Given the description of an element on the screen output the (x, y) to click on. 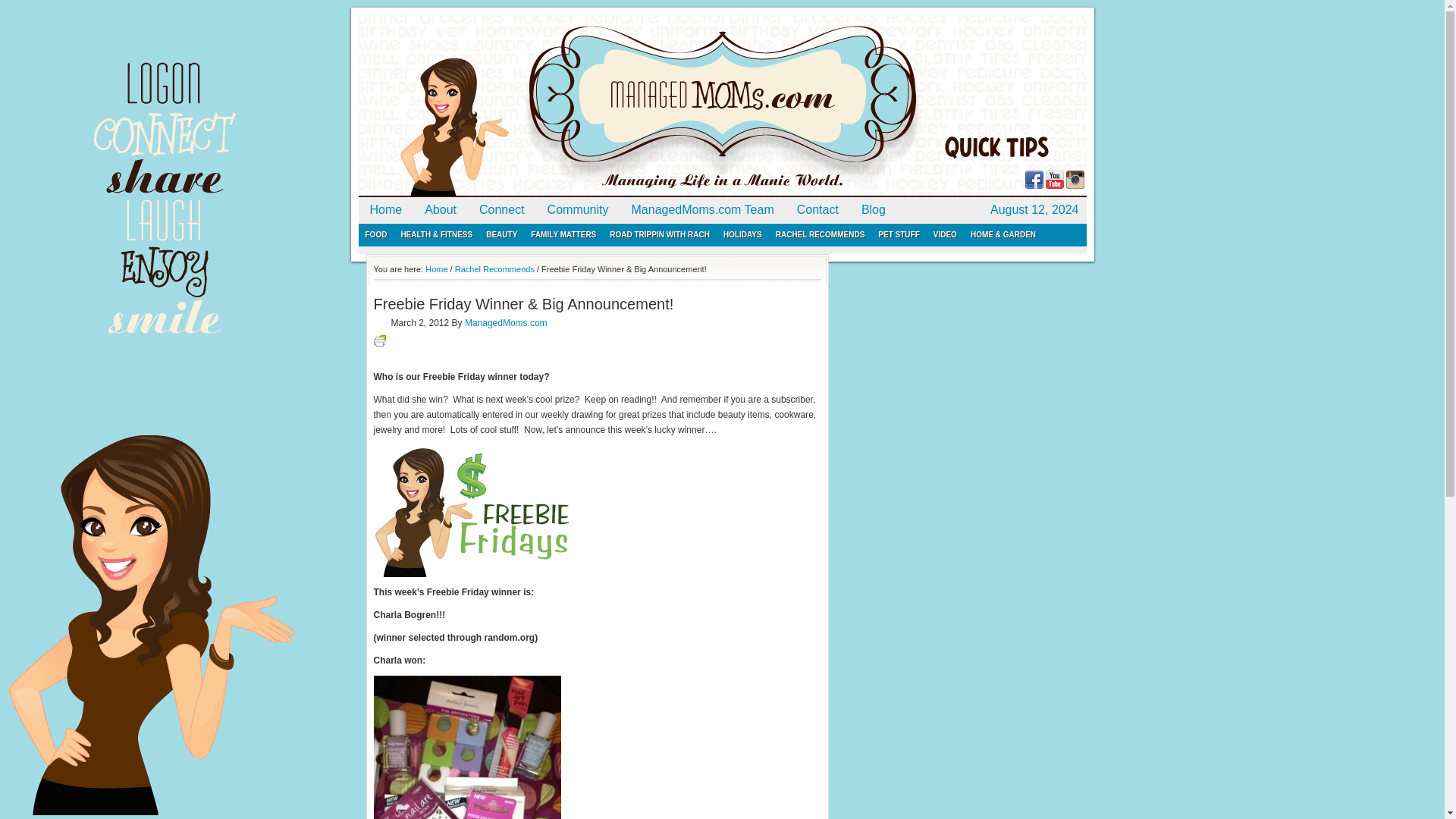
YouTube Channel (1053, 185)
HOLIDAYS (742, 234)
Home (385, 210)
ManagedMoms.com Team (703, 210)
Community (577, 210)
Rachel Recommends (494, 268)
Home (435, 268)
VIDEO (944, 234)
FAMILY MATTERS (563, 234)
2012-03-02T14:46:35-07:00 (412, 323)
